Given the description of an element on the screen output the (x, y) to click on. 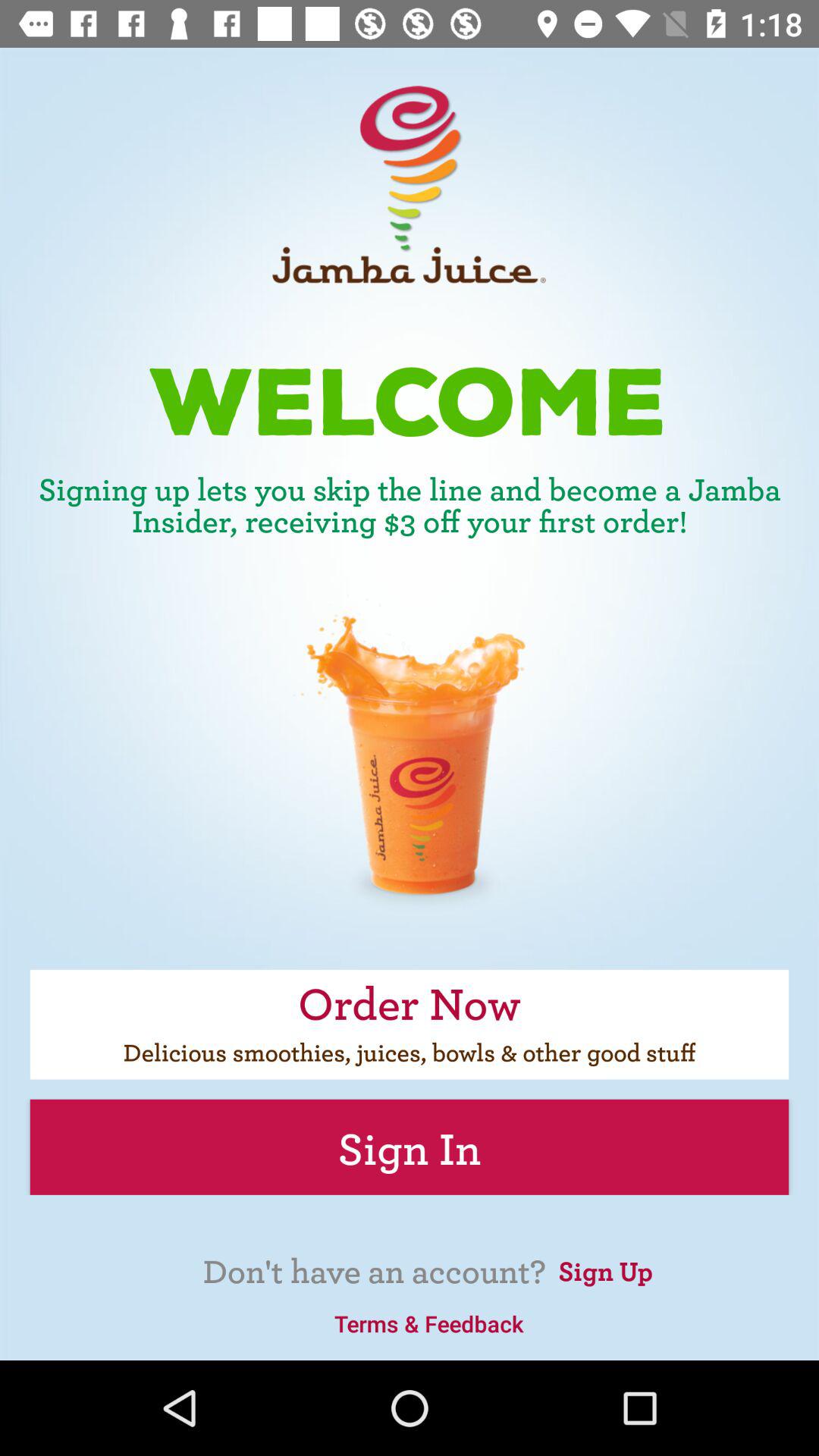
click the item below don t have (428, 1323)
